Given the description of an element on the screen output the (x, y) to click on. 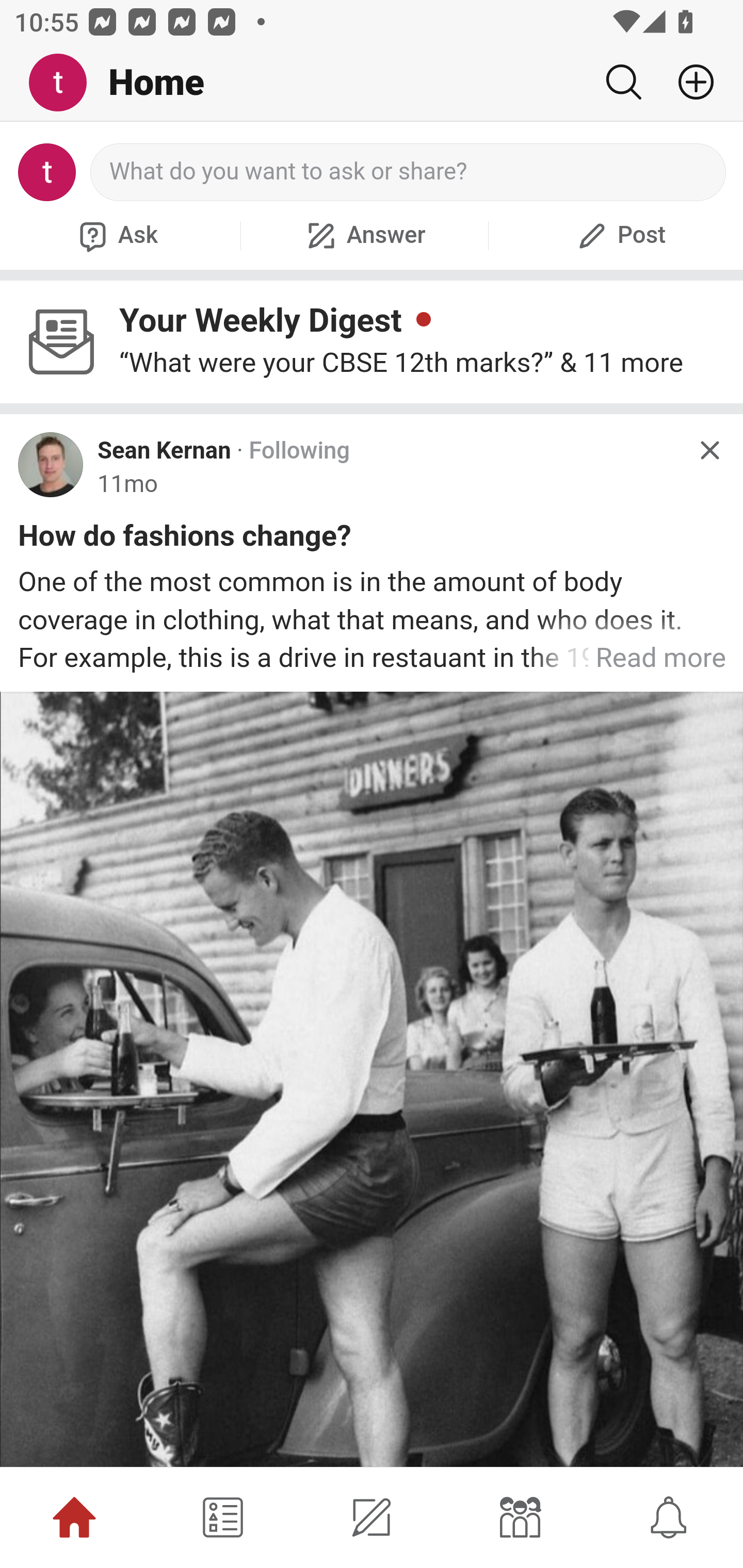
Me Home Search Add (371, 82)
Me (64, 83)
Search (623, 82)
Add (688, 82)
